Given the description of an element on the screen output the (x, y) to click on. 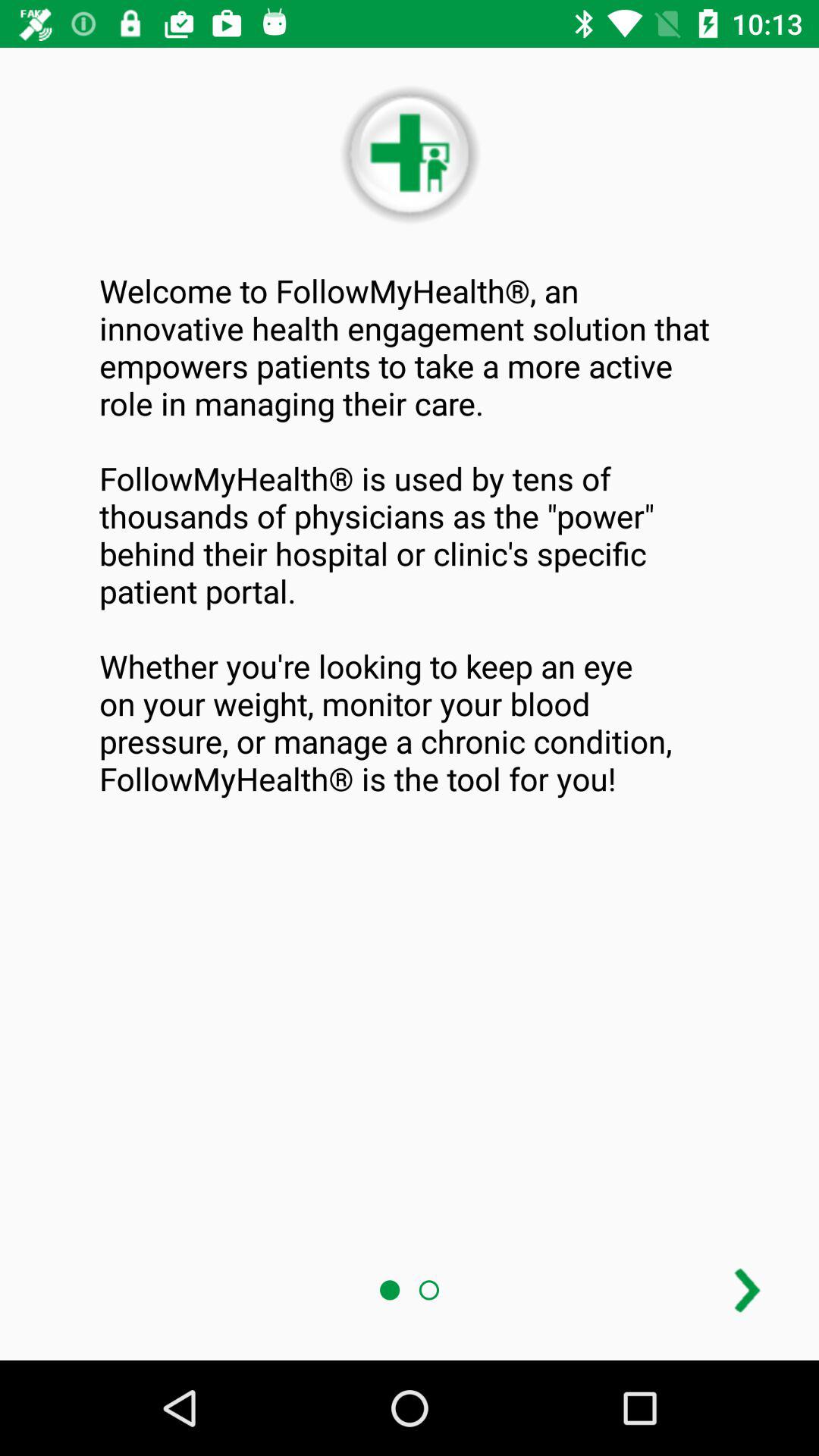
advance page (747, 1290)
